Given the description of an element on the screen output the (x, y) to click on. 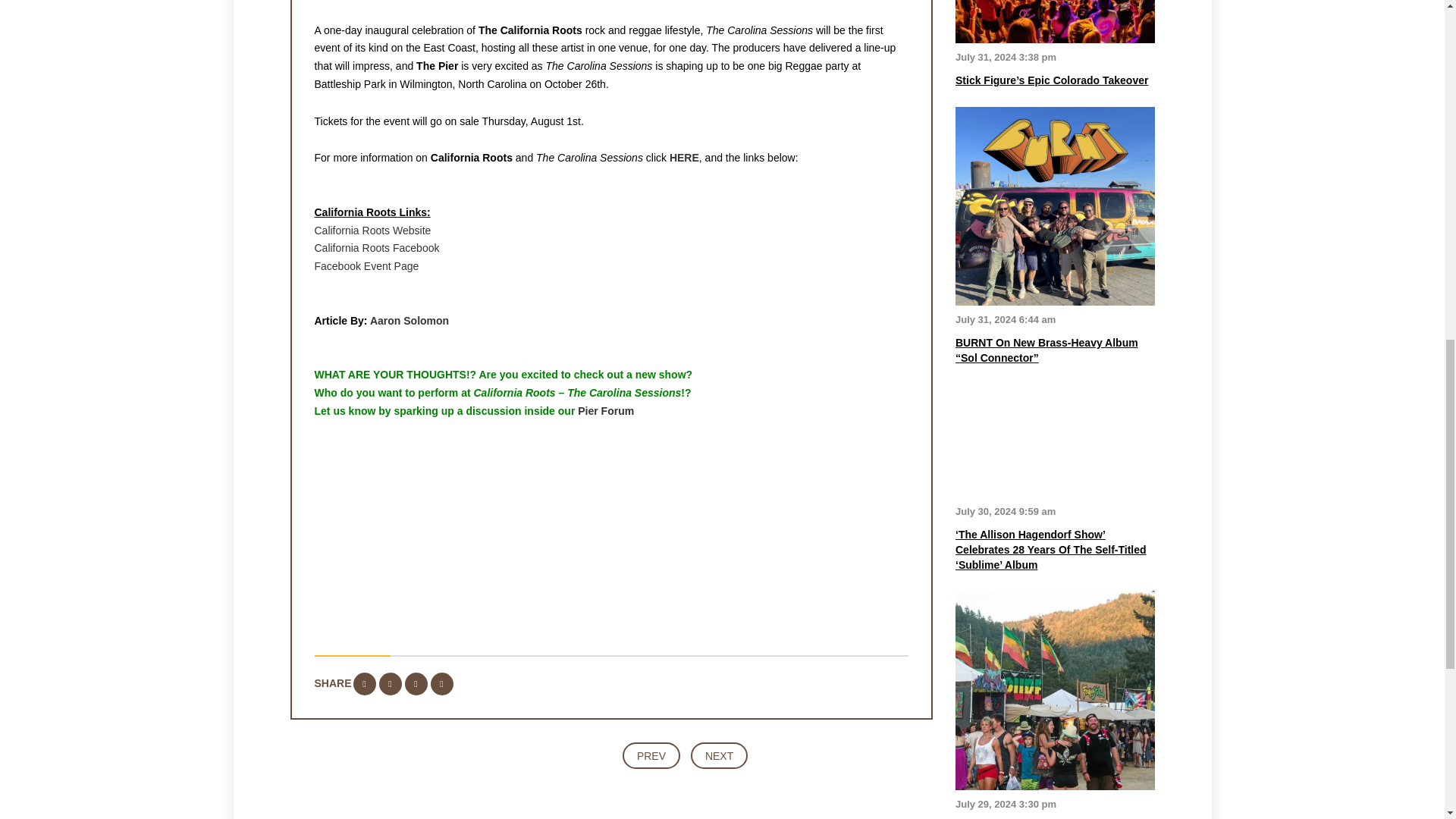
NEXT (719, 755)
California Roots Website (372, 230)
California Roots Facebook (376, 247)
PREV (651, 755)
HERE (683, 157)
Facebook Event Page (366, 265)
Aaron Solomon (408, 320)
Pier Forum (605, 410)
